Given the description of an element on the screen output the (x, y) to click on. 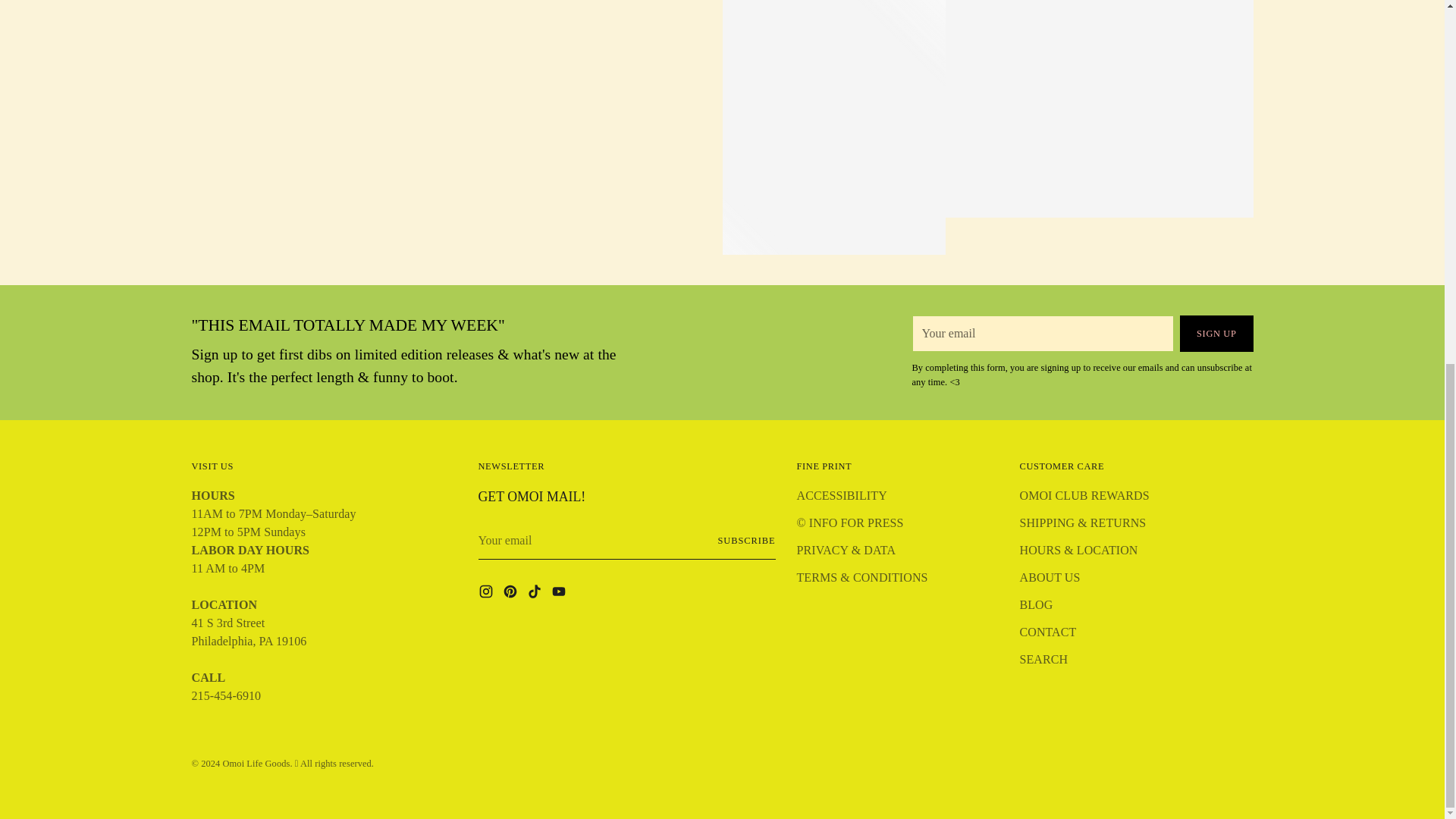
Omoi Life Goods on Instagram (486, 593)
Omoi Life Goods on Tiktok (534, 593)
Omoi Life Goods on Pinterest (510, 593)
Omoi Life Goods on YouTube (559, 593)
